Given the description of an element on the screen output the (x, y) to click on. 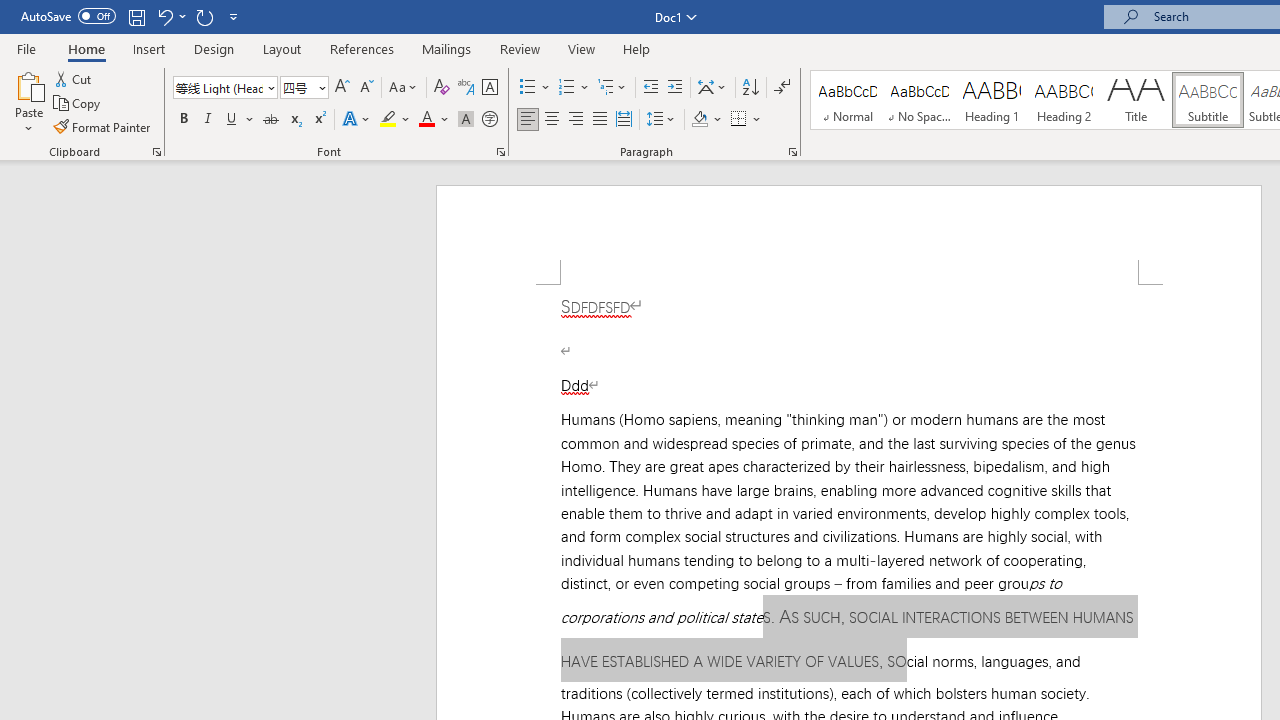
More Options (757, 119)
Design (214, 48)
Center (552, 119)
Office Clipboard... (156, 151)
Subscript (294, 119)
Shading RGB(0, 0, 0) (699, 119)
Italic (207, 119)
Increase Indent (675, 87)
Character Shading (465, 119)
Phonetic Guide... (465, 87)
References (362, 48)
Grow Font (342, 87)
Shading (706, 119)
Underline (239, 119)
